Given the description of an element on the screen output the (x, y) to click on. 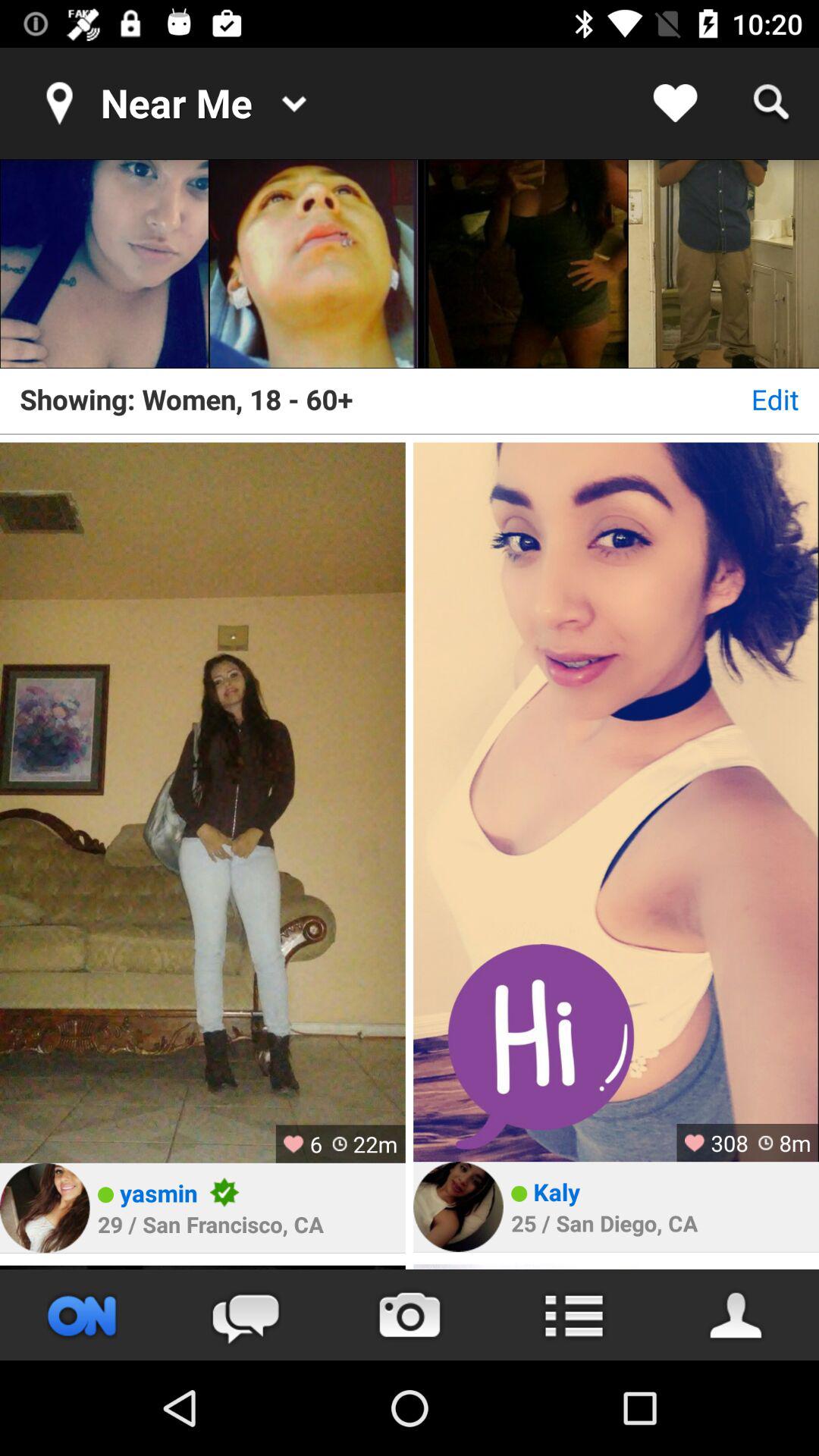
select the picture (522, 263)
